Given the description of an element on the screen output the (x, y) to click on. 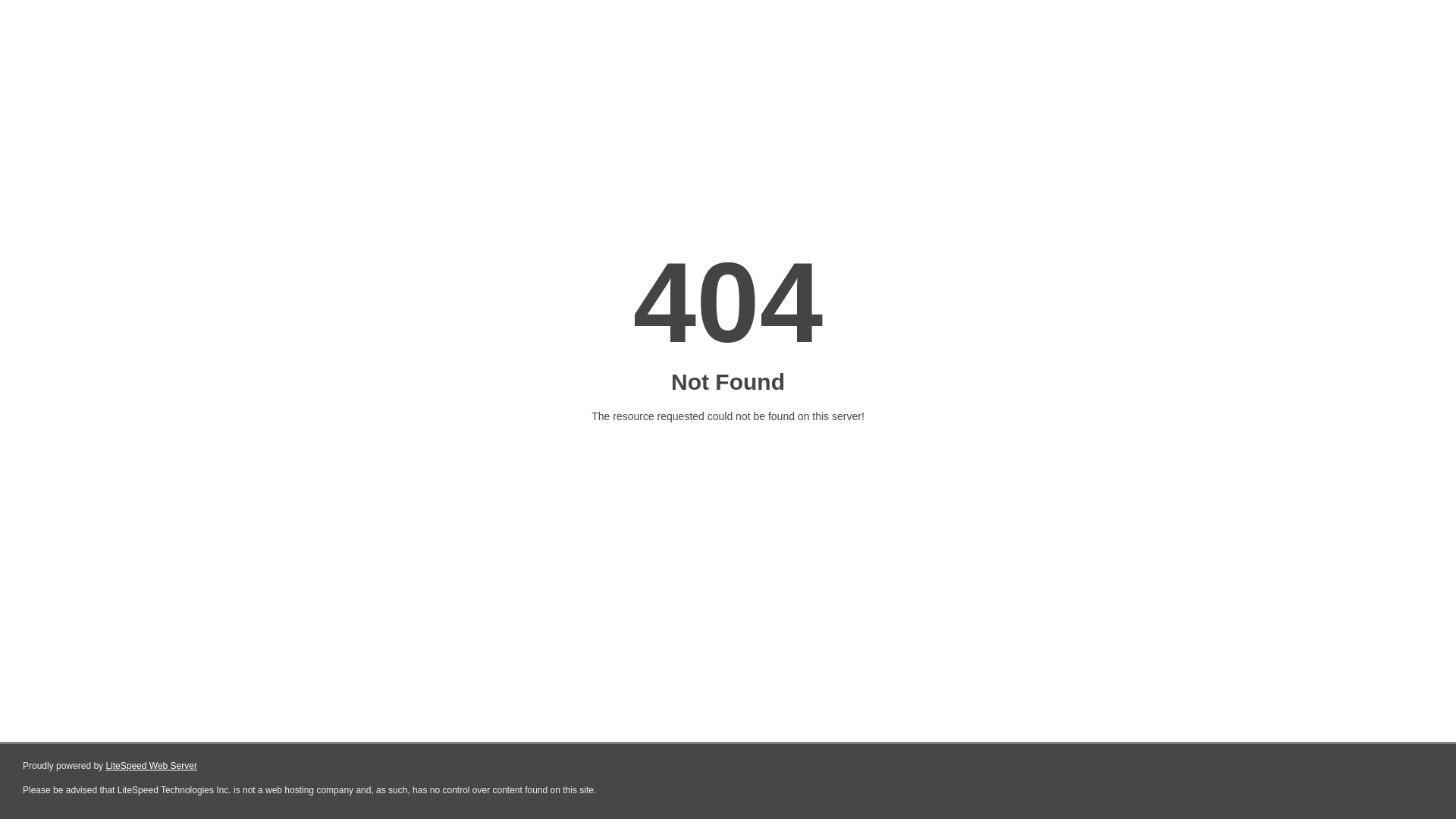
LiteSpeed Web Server Element type: text (151, 765)
